Given the description of an element on the screen output the (x, y) to click on. 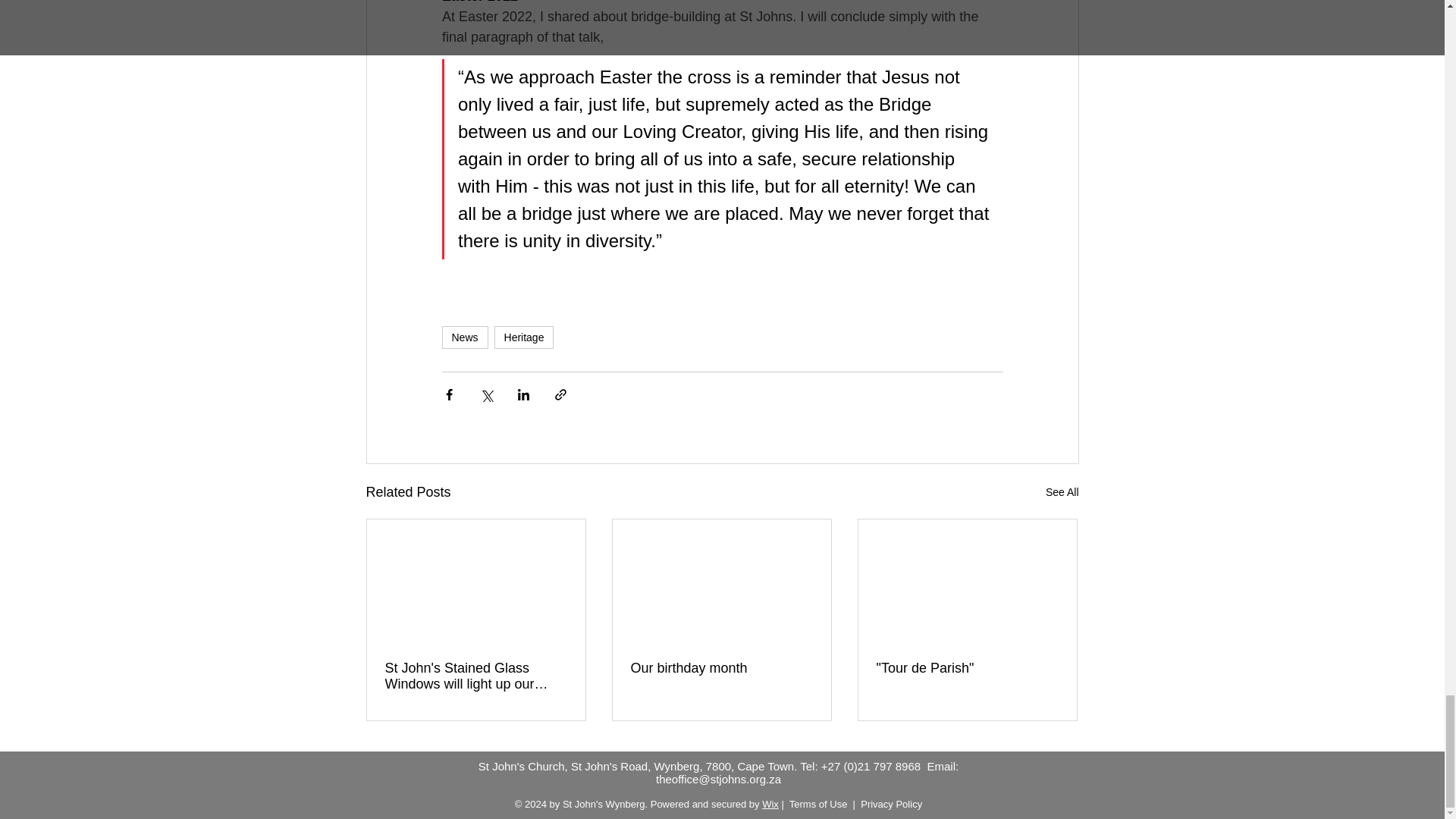
Heritage (524, 336)
Privacy Policy (890, 803)
News (464, 336)
"Tour de Parish" (967, 668)
Terms of Use (818, 803)
See All (1061, 492)
Wix (769, 803)
Our birthday month (721, 668)
